Given the description of an element on the screen output the (x, y) to click on. 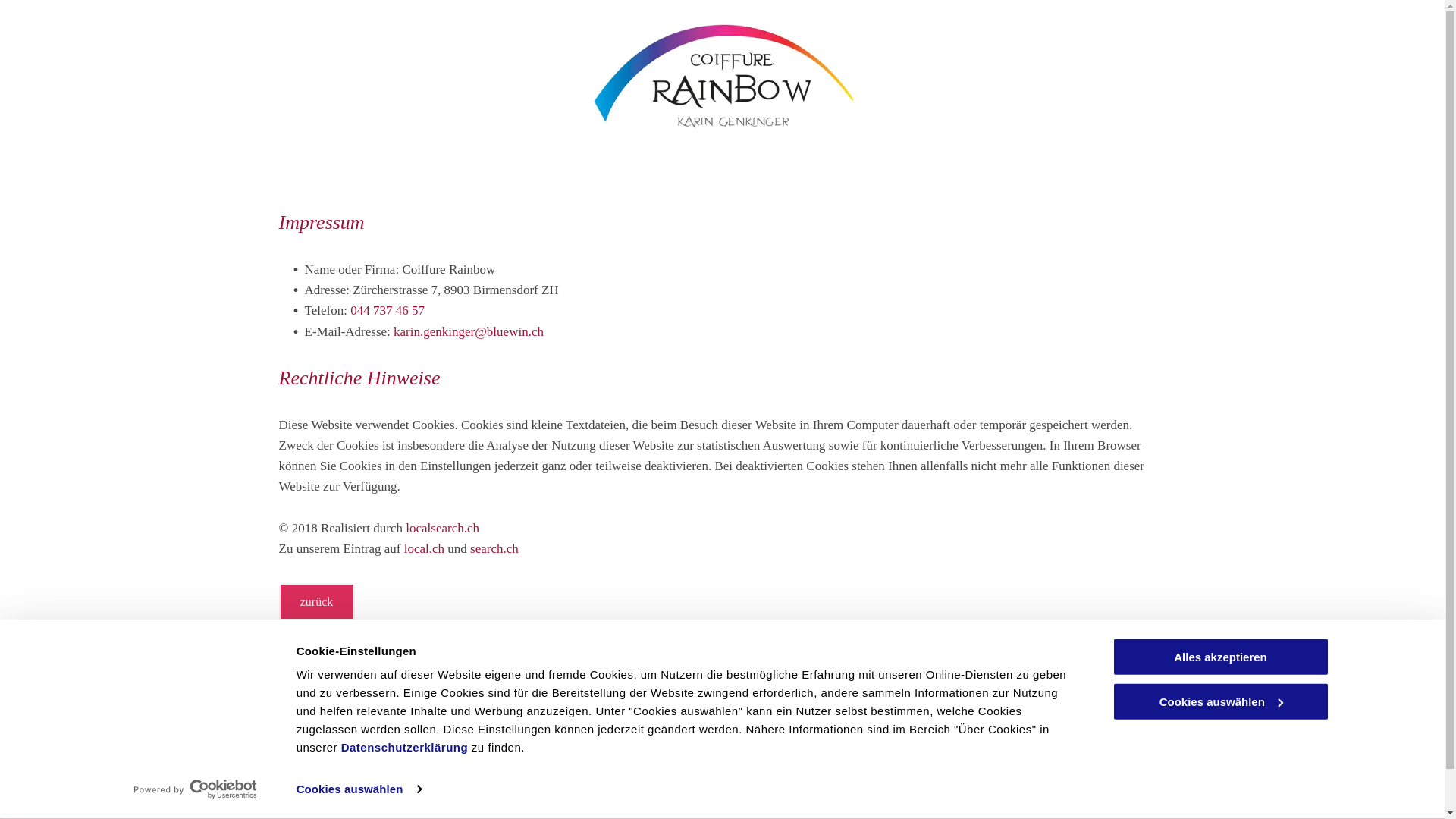
044 737 46 57 Element type: text (542, 741)
local.ch Element type: text (424, 548)
Impressum Element type: text (1138, 749)
localsearch.ch Element type: text (442, 527)
karin.genkinger@bluewin.ch Element type: text (577, 780)
Alles akzeptieren Element type: text (1219, 656)
karin.genkinger@bluewin.ch Element type: text (468, 331)
044 737 46 57 Element type: text (387, 310)
search.ch Element type: text (494, 548)
